Given the description of an element on the screen output the (x, y) to click on. 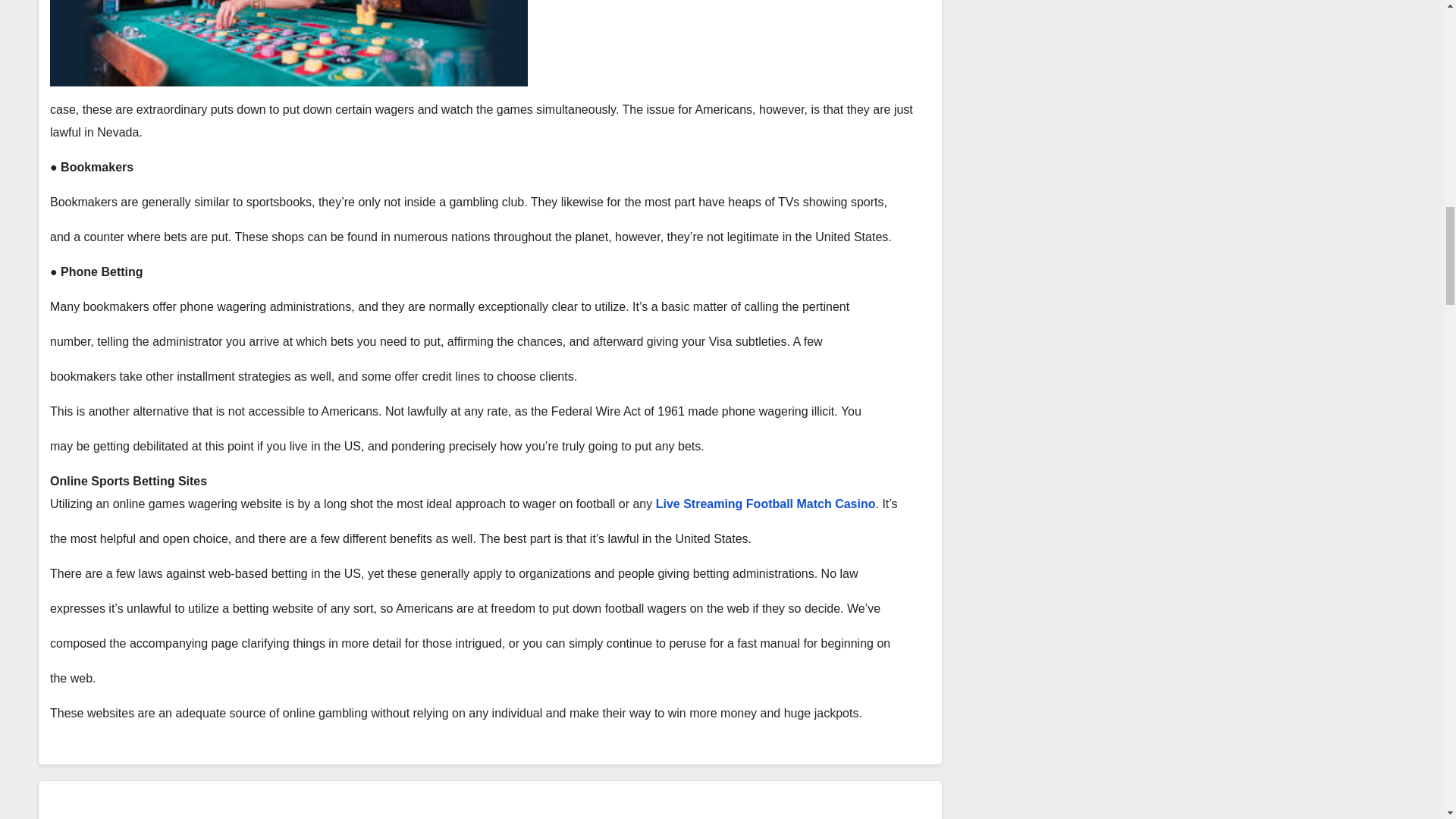
Live Streaming Football Match Casino (766, 503)
